Given the description of an element on the screen output the (x, y) to click on. 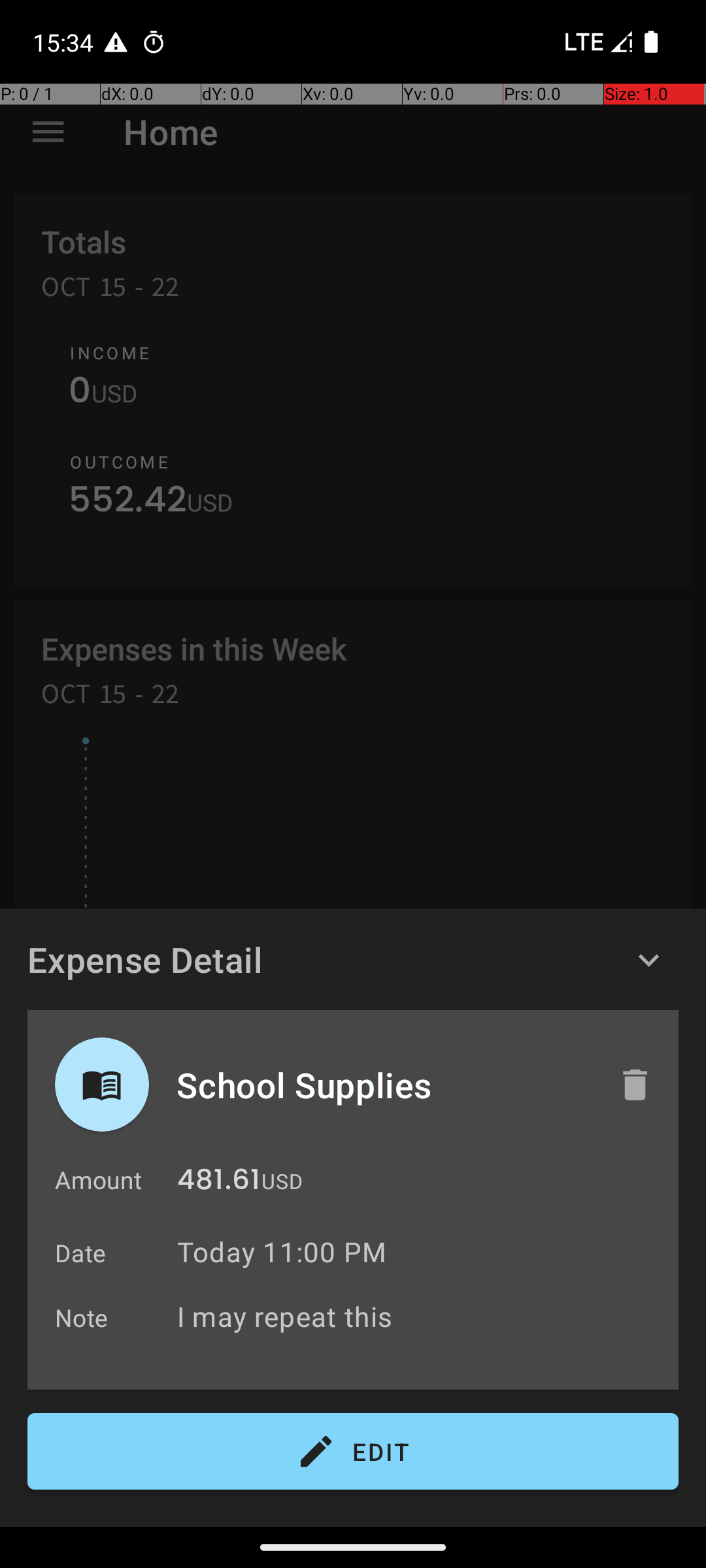
School Supplies Element type: android.widget.TextView (383, 1084)
481.61 Element type: android.widget.TextView (218, 1182)
Today 11:00 PM Element type: android.widget.TextView (281, 1251)
